Given the description of an element on the screen output the (x, y) to click on. 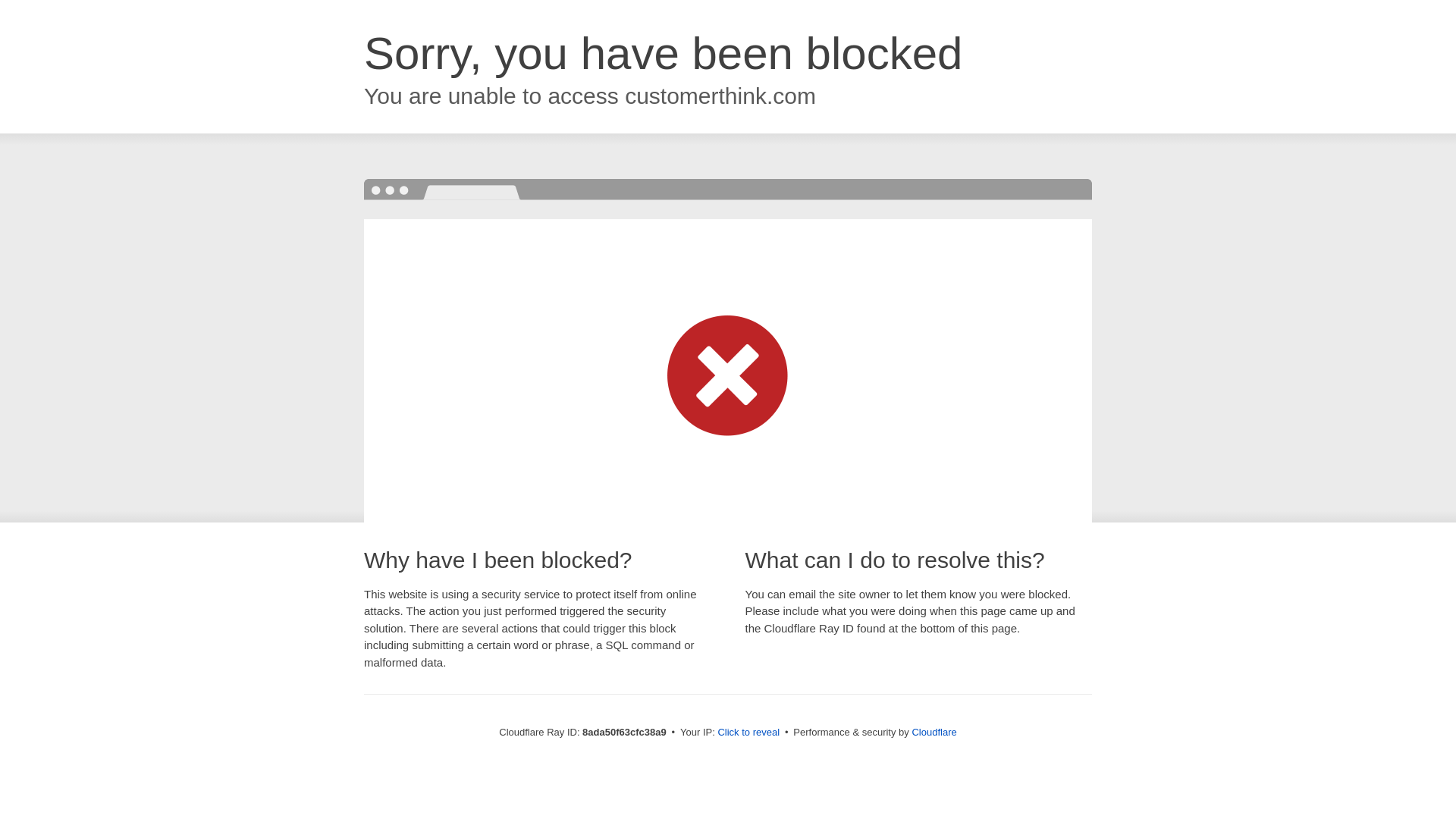
Click to reveal (747, 732)
Cloudflare (933, 731)
